Given the description of an element on the screen output the (x, y) to click on. 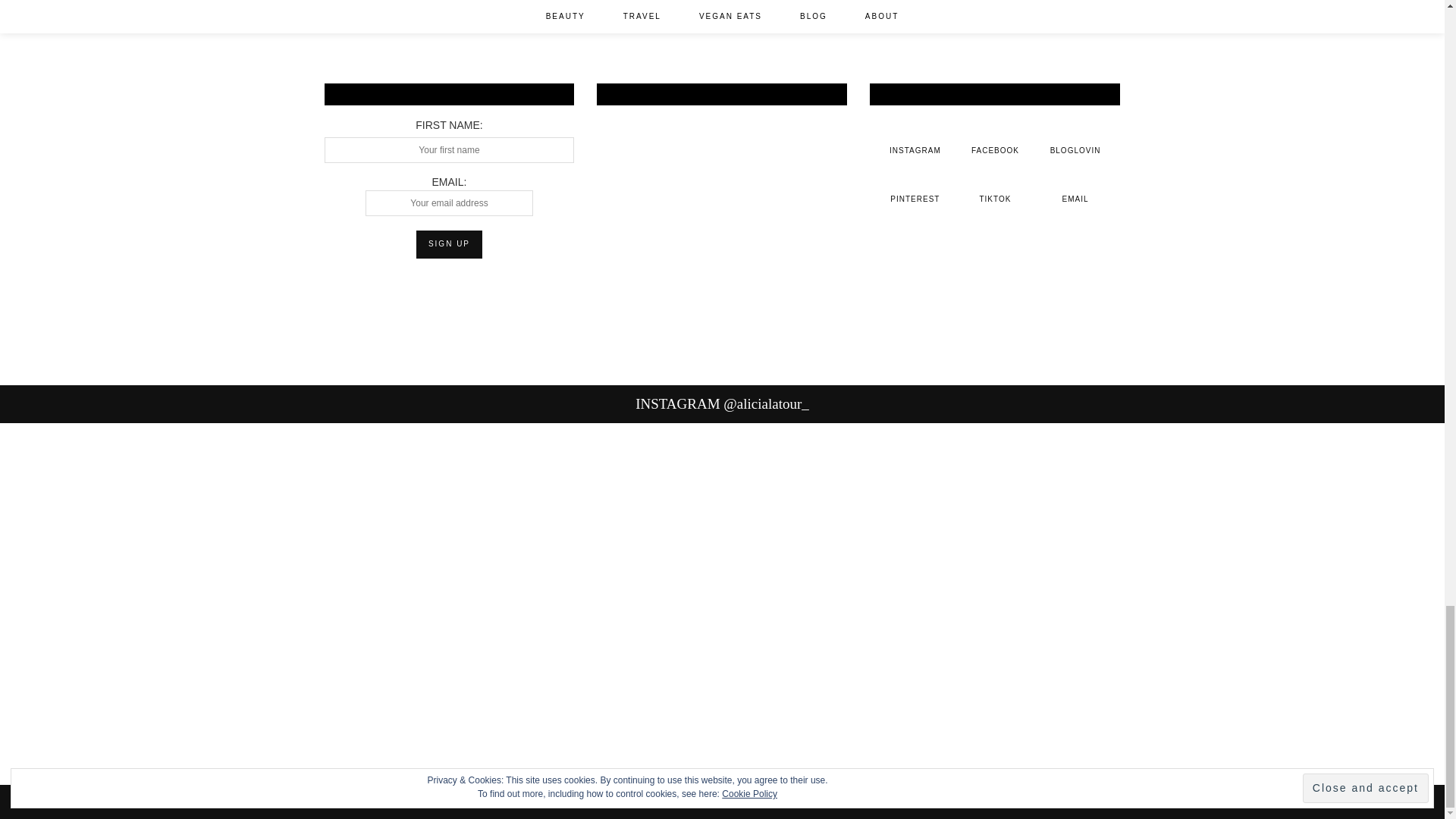
Sign up (448, 243)
